Given the description of an element on the screen output the (x, y) to click on. 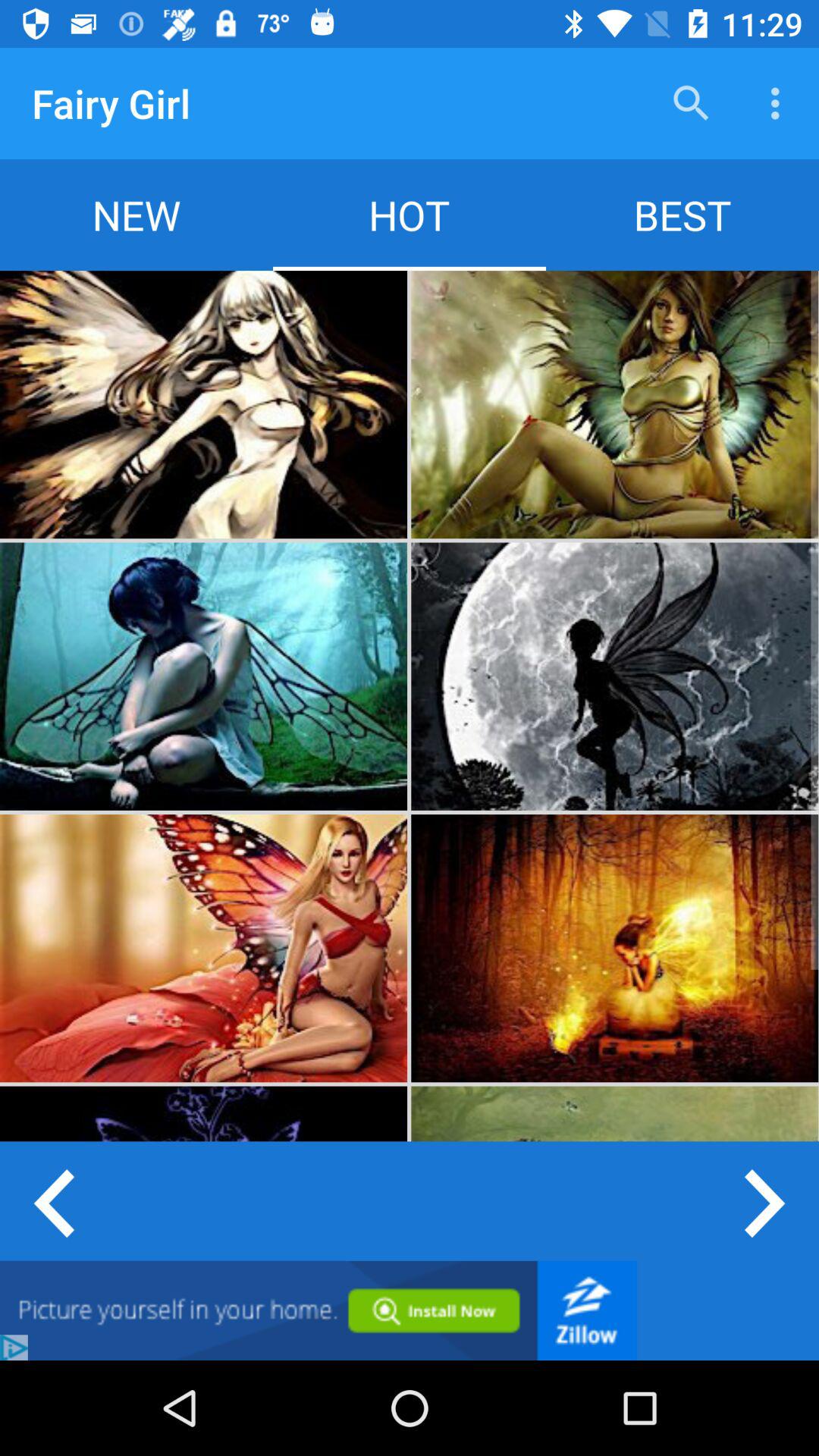
launch item to the right of fairy girl item (691, 103)
